Given the description of an element on the screen output the (x, y) to click on. 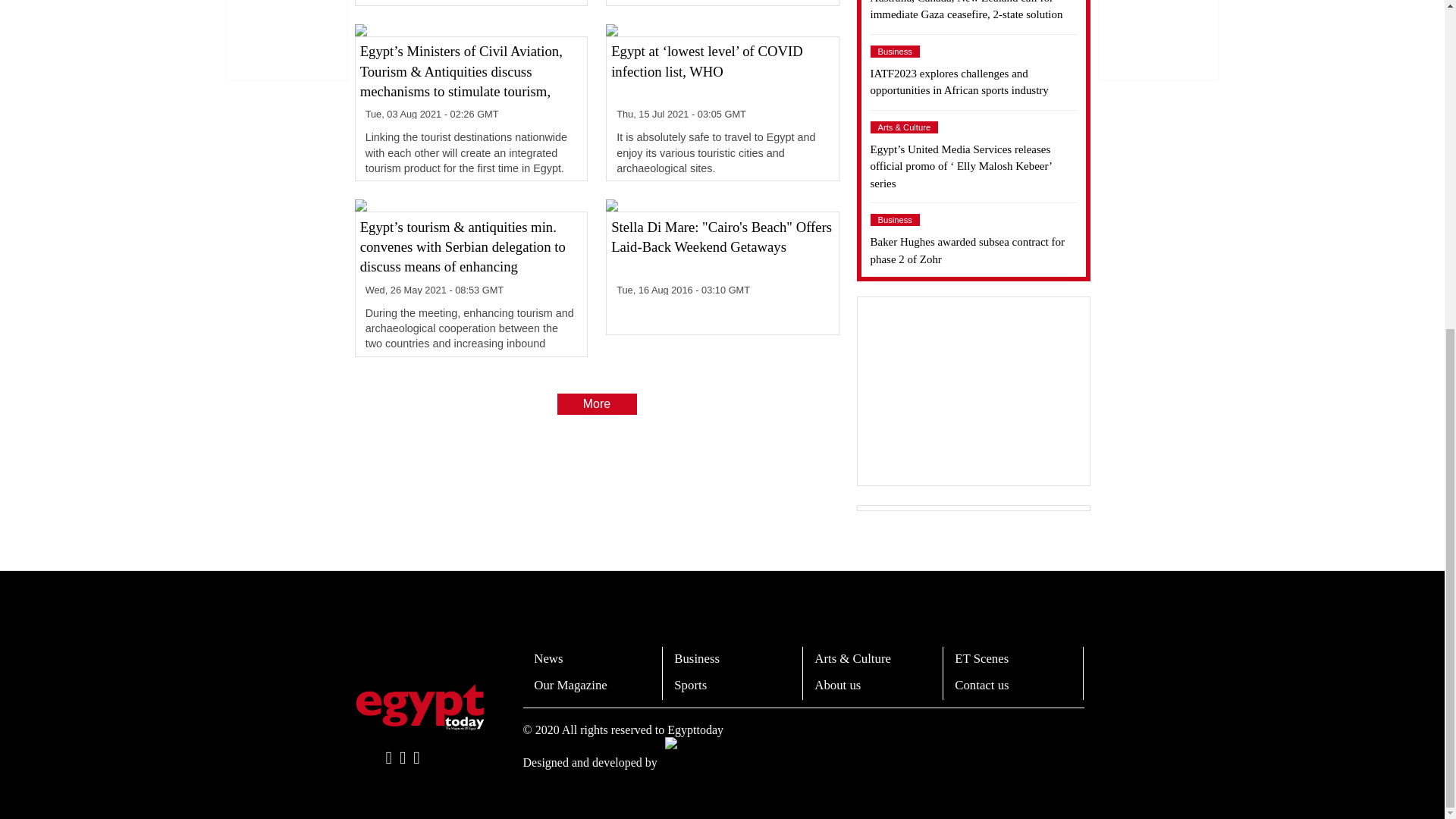
EgyptToday (419, 707)
